Given the description of an element on the screen output the (x, y) to click on. 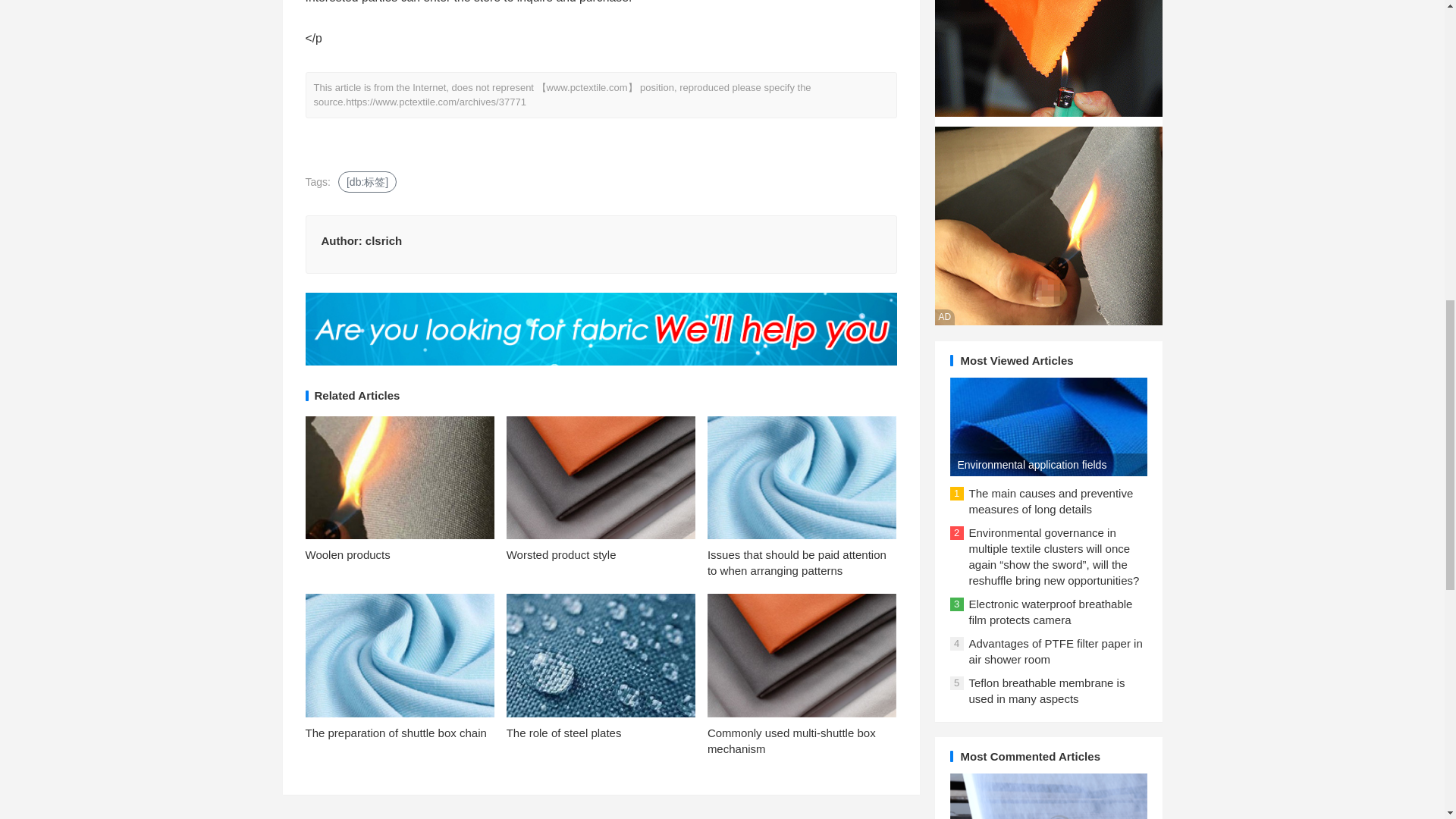
Commonly used multi-shuttle box mechanism (791, 740)
Woolen products (347, 554)
The role of steel plates (563, 732)
clsrich (383, 240)
The preparation of shuttle box chain (395, 732)
Worsted product style (560, 554)
